Given the description of an element on the screen output the (x, y) to click on. 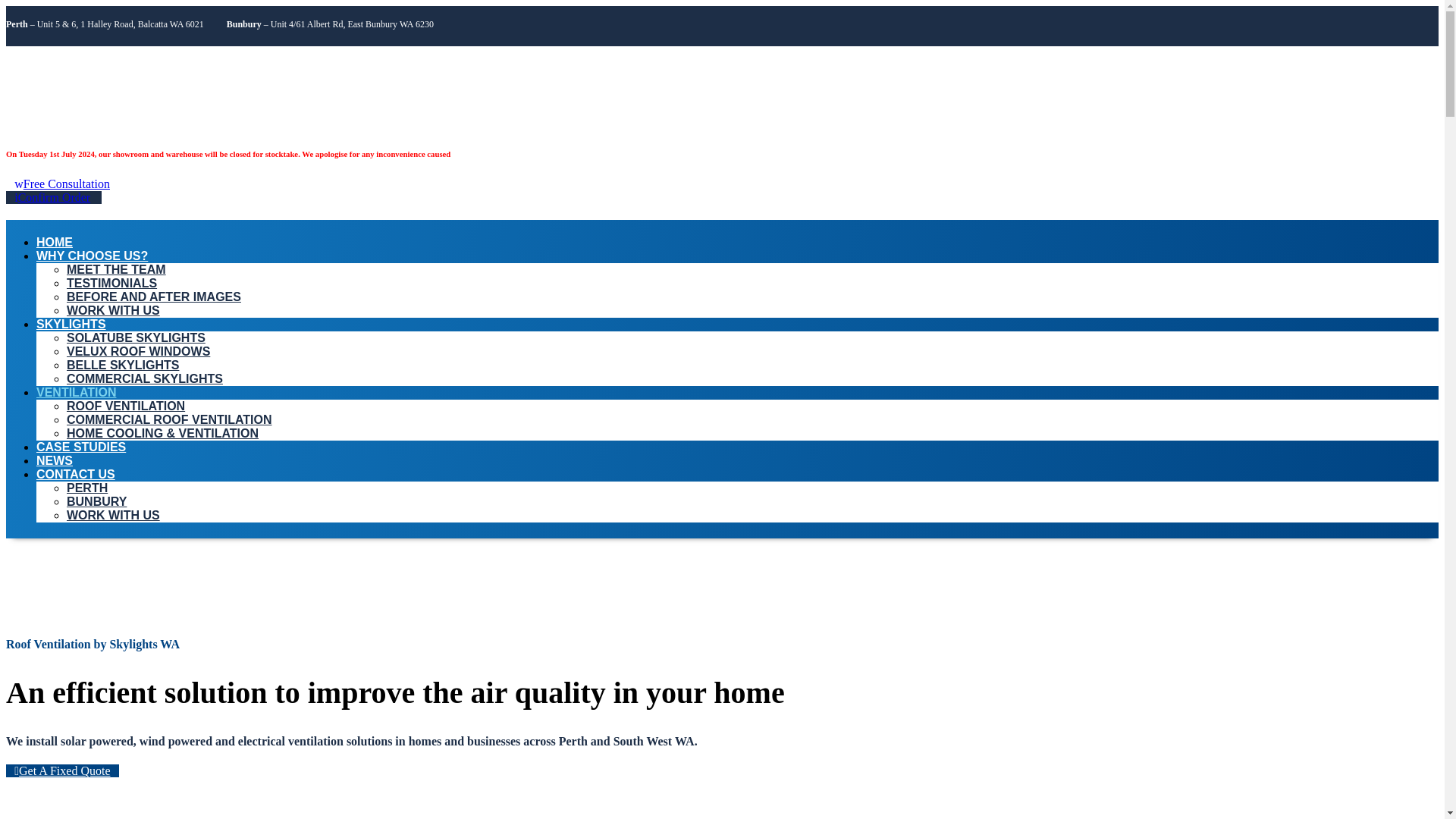
COMMERCIAL ROOF VENTILATION (169, 419)
Get A Fixed Quote (62, 770)
WHY CHOOSE US? (92, 255)
SKYLIGHTS (71, 323)
SOLATUBE SKYLIGHTS (135, 337)
WORK WITH US (113, 309)
PERTH (86, 487)
COMMERCIAL SKYLIGHTS (144, 378)
CASE STUDIES (80, 446)
Confirm Order (53, 196)
TESTIMONIALS (111, 282)
WORK WITH US (113, 514)
BELLE SKYLIGHTS (122, 364)
Skylights WA (111, 94)
HOME (54, 241)
